Given the description of an element on the screen output the (x, y) to click on. 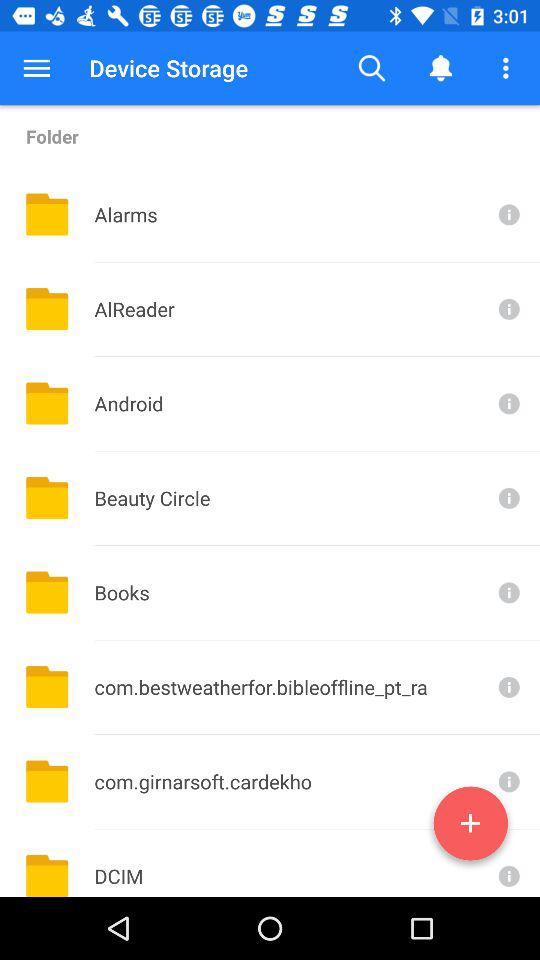
see more info (507, 686)
